Given the description of an element on the screen output the (x, y) to click on. 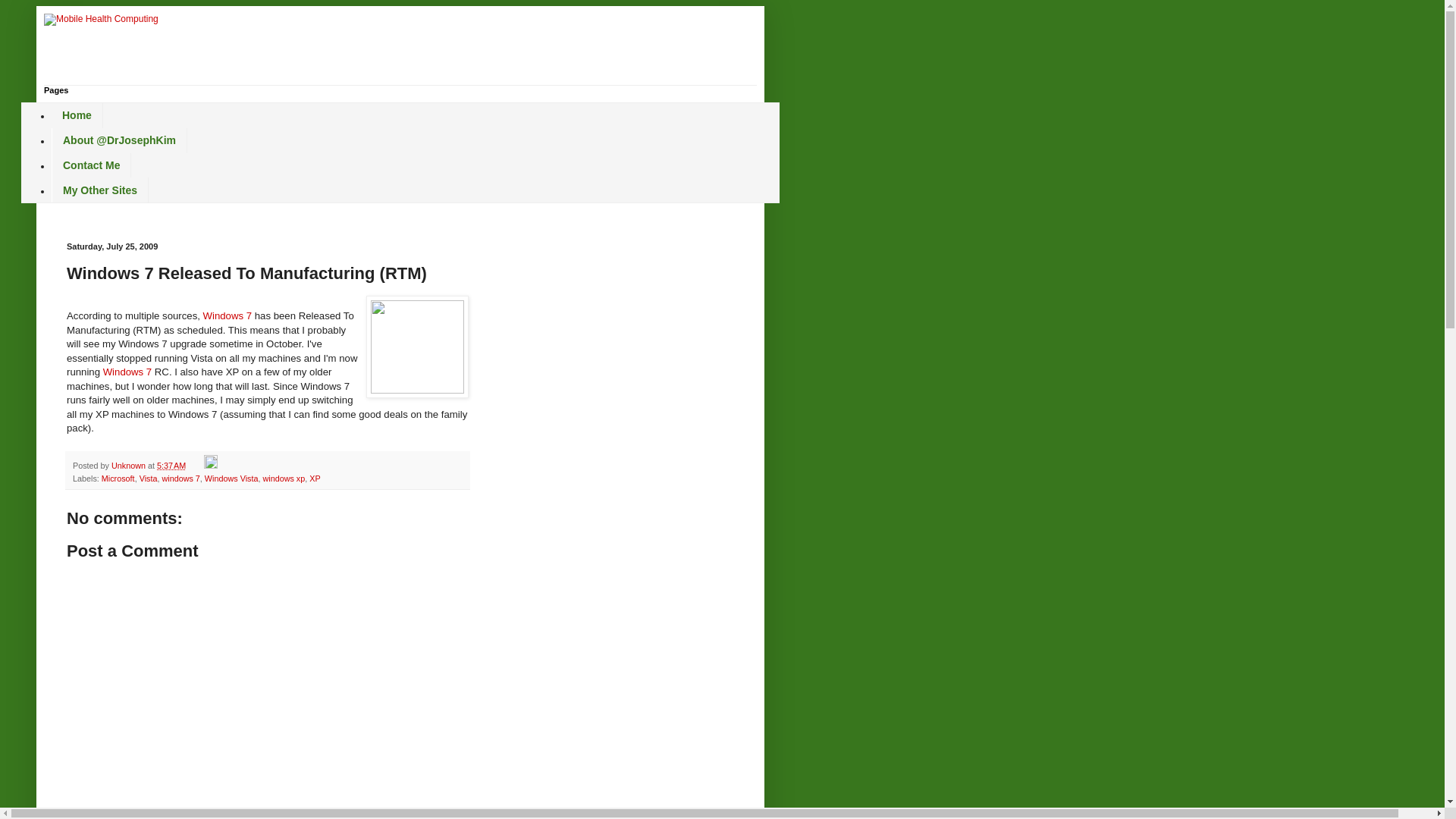
Windows Vista (232, 478)
Email Post (195, 465)
Microsoft (118, 478)
windows xp (283, 478)
Edit Post (209, 465)
Windows 7 (127, 371)
Vista (148, 478)
Windows 7 (227, 315)
My Other Sites (99, 189)
author profile (130, 465)
Unknown (130, 465)
XP (314, 478)
Contact Me (90, 165)
permanent link (171, 465)
windows 7 (180, 478)
